Given the description of an element on the screen output the (x, y) to click on. 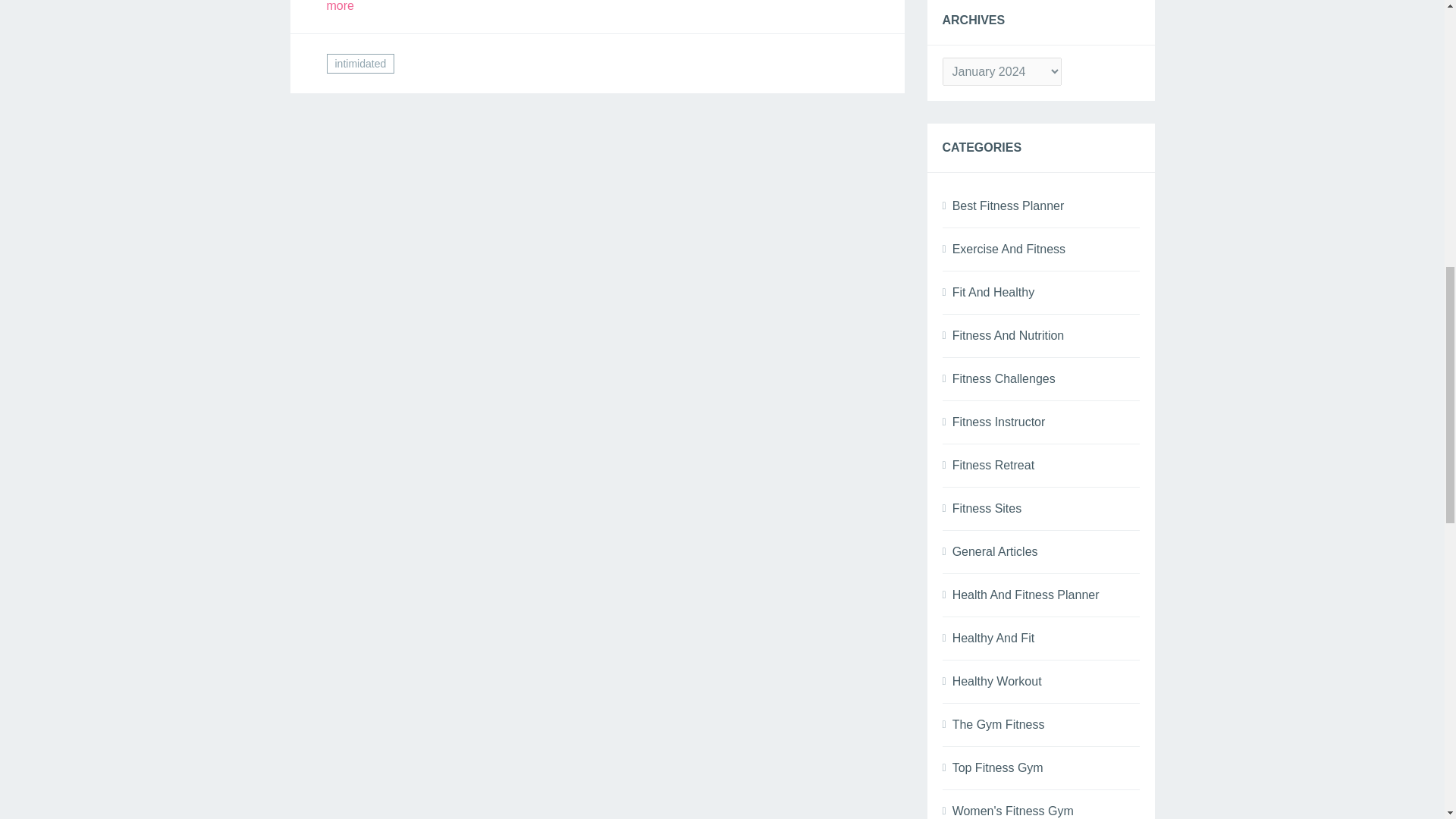
intimidated (360, 63)
Read more (596, 6)
